Given the description of an element on the screen output the (x, y) to click on. 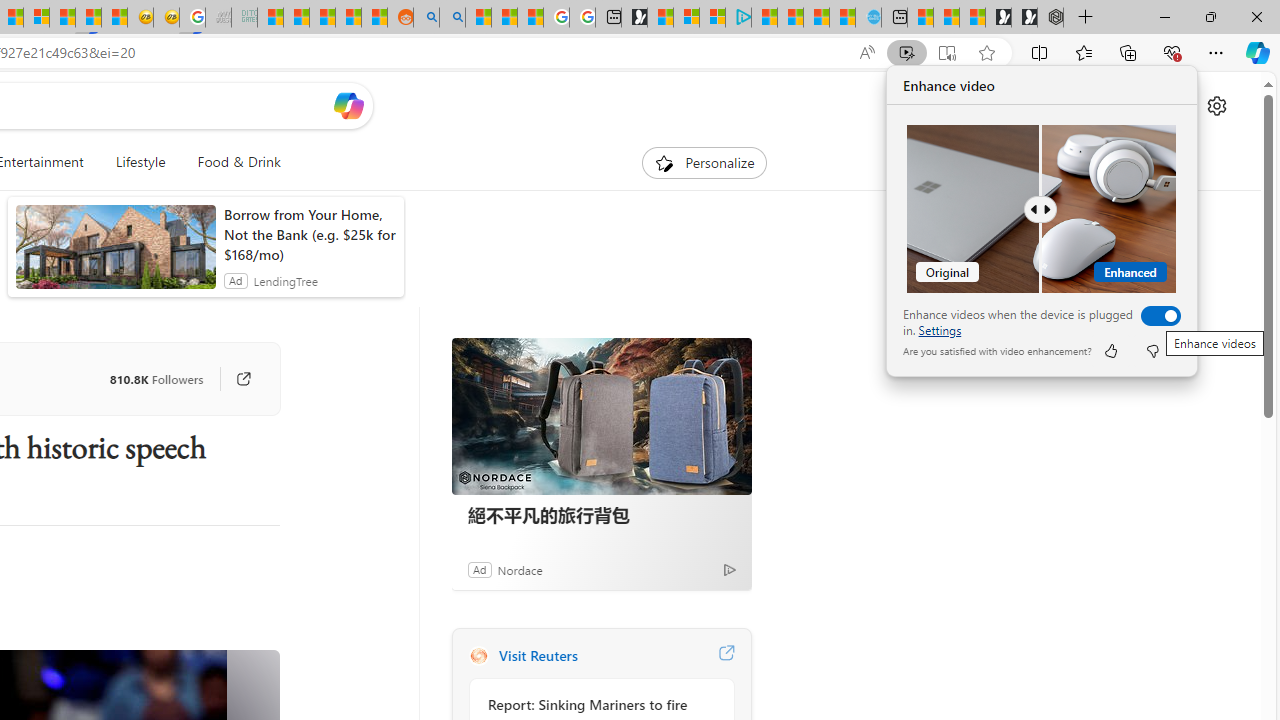
Lifestyle (139, 162)
like (1110, 350)
Ad Choice (729, 569)
Comparision (1041, 209)
anim-content (115, 255)
Navy Quest (218, 17)
Student Loan Update: Forgiveness Program Ends This Month (347, 17)
Settings (939, 330)
Home | Sky Blue Bikes - Sky Blue Bikes (868, 17)
Microsoft account | Privacy (712, 17)
